Given the description of an element on the screen output the (x, y) to click on. 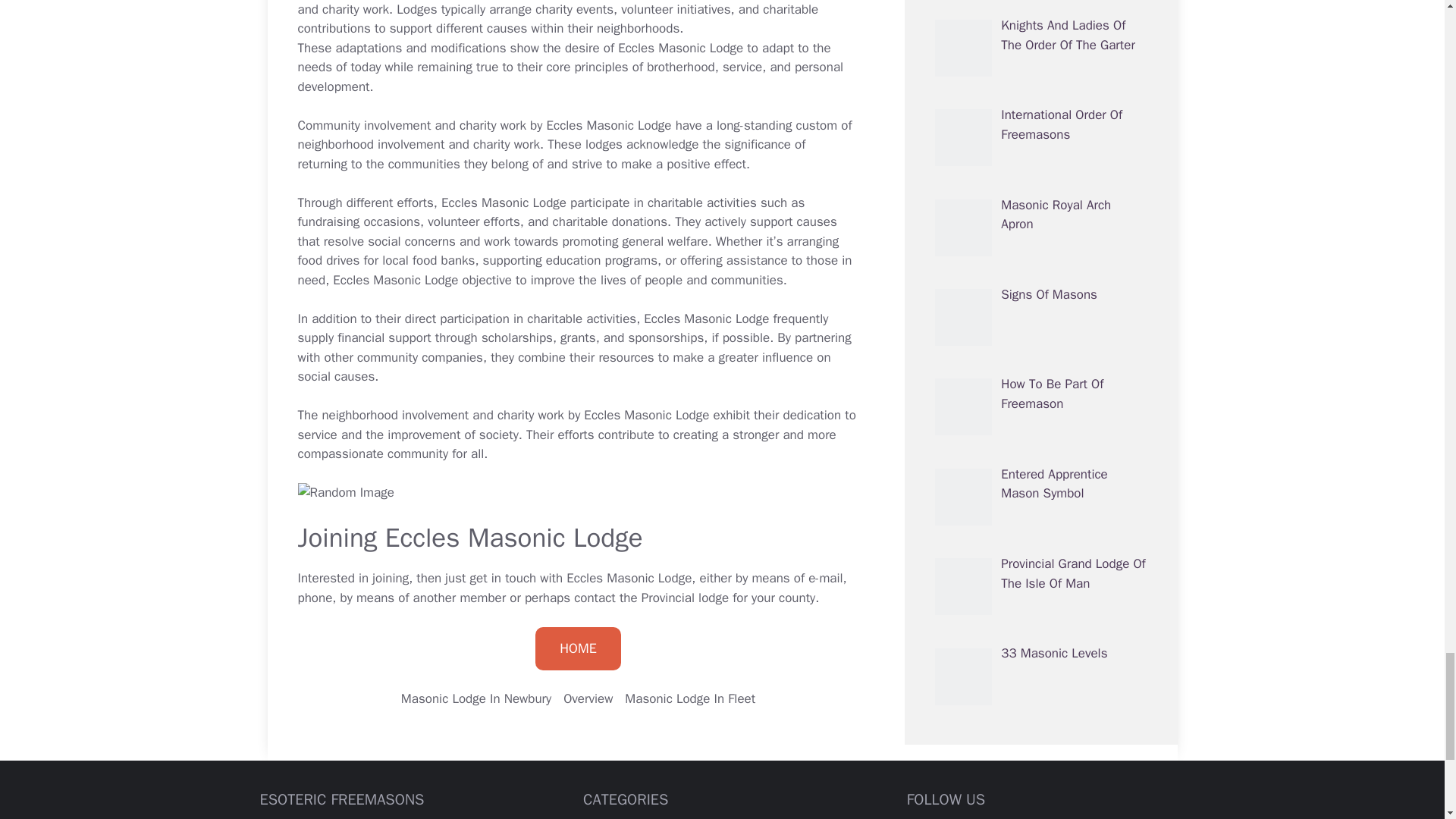
Overview (587, 698)
HOME (578, 648)
Masonic Lodge In Fleet (689, 698)
Masonic Lodge In Newbury (476, 698)
